Given the description of an element on the screen output the (x, y) to click on. 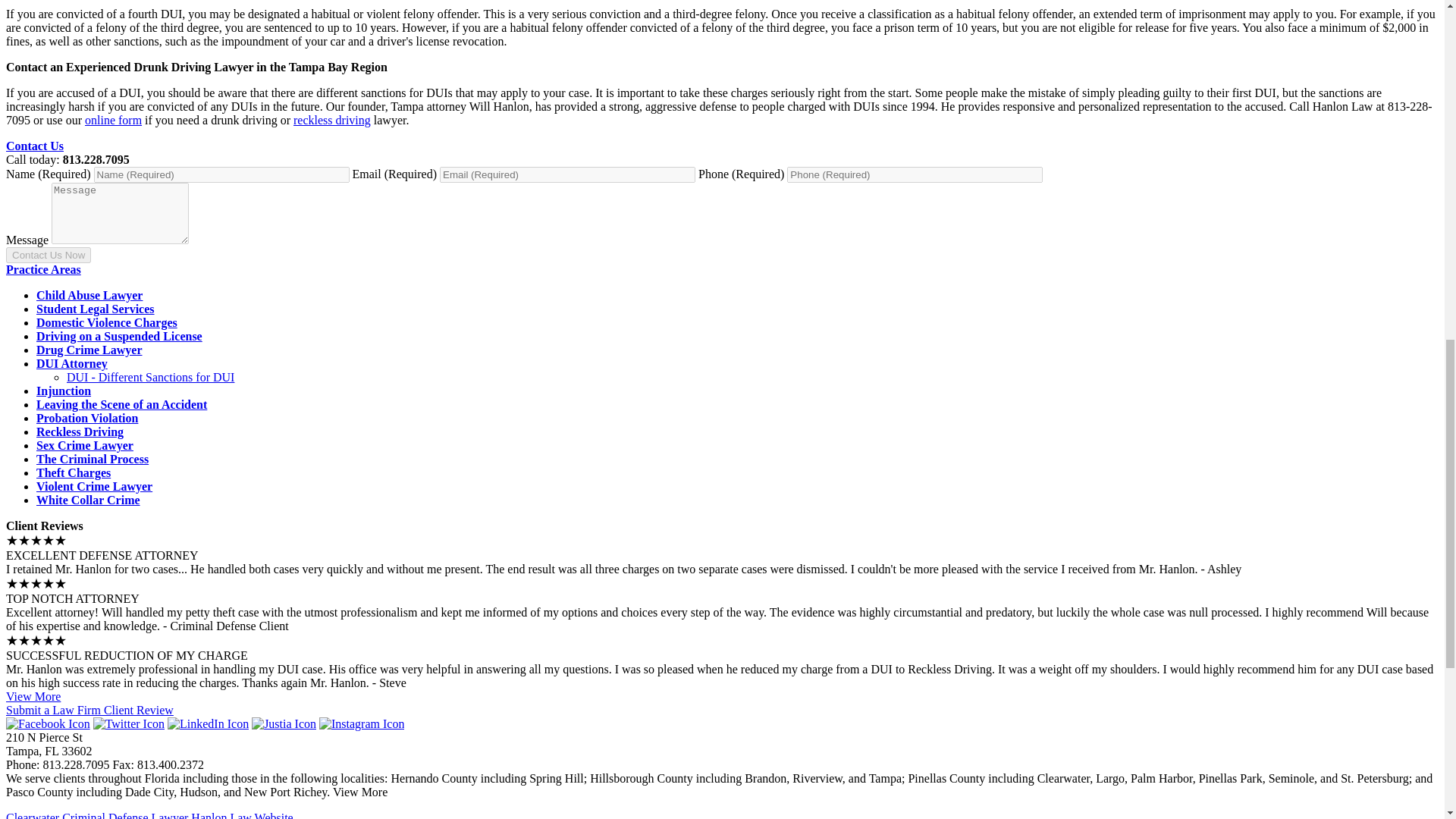
Practice Areas (43, 269)
Reckless Driving (79, 431)
Domestic Violence Charges (106, 322)
Student Legal Services (95, 308)
Probation Violation (87, 418)
online form (112, 119)
The Criminal Process (92, 459)
Child Abuse Lawyer (89, 295)
Instagram (361, 723)
Sex Crime Lawyer (84, 445)
